Given the description of an element on the screen output the (x, y) to click on. 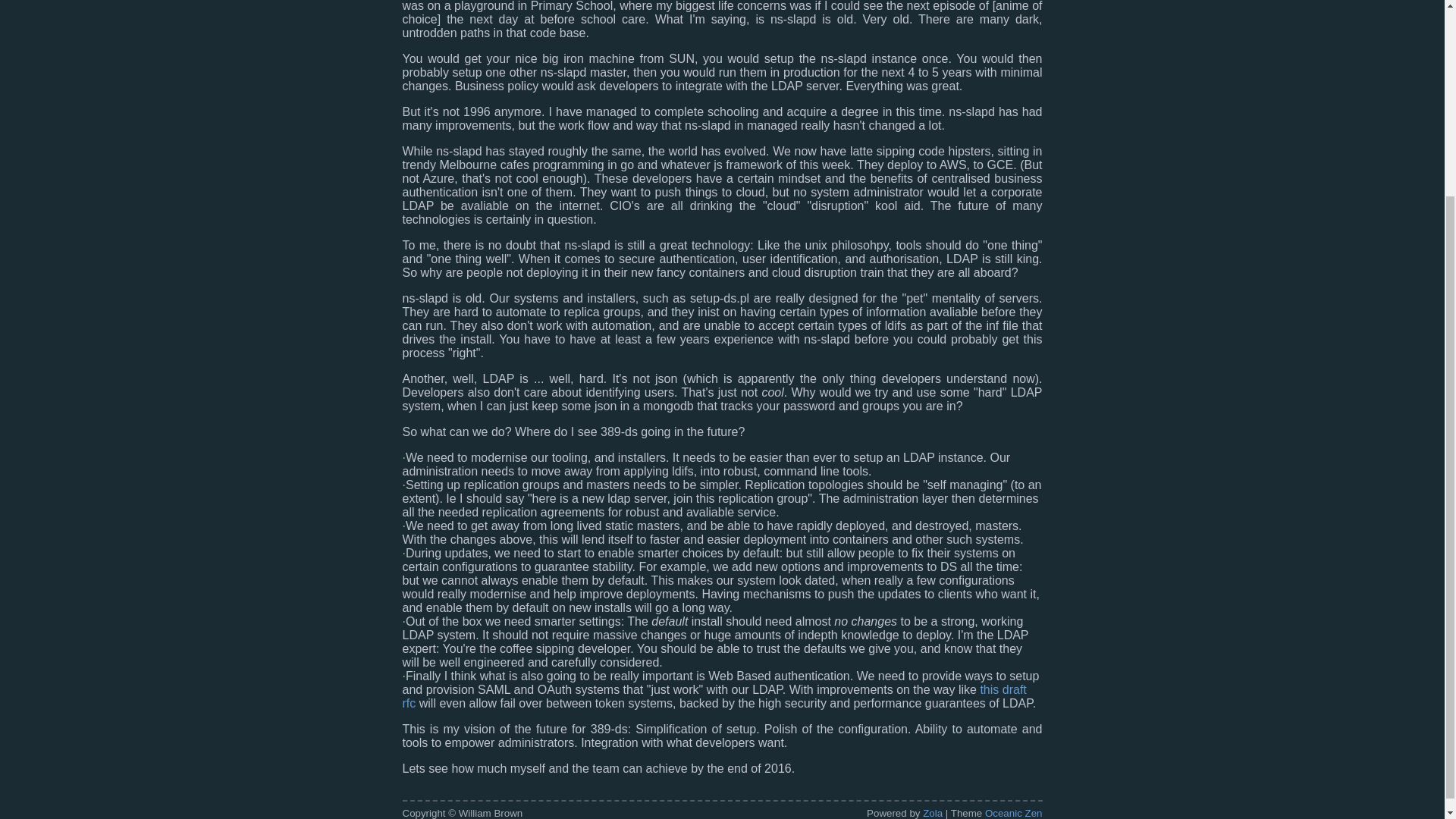
this draft rfc (713, 696)
